Given the description of an element on the screen output the (x, y) to click on. 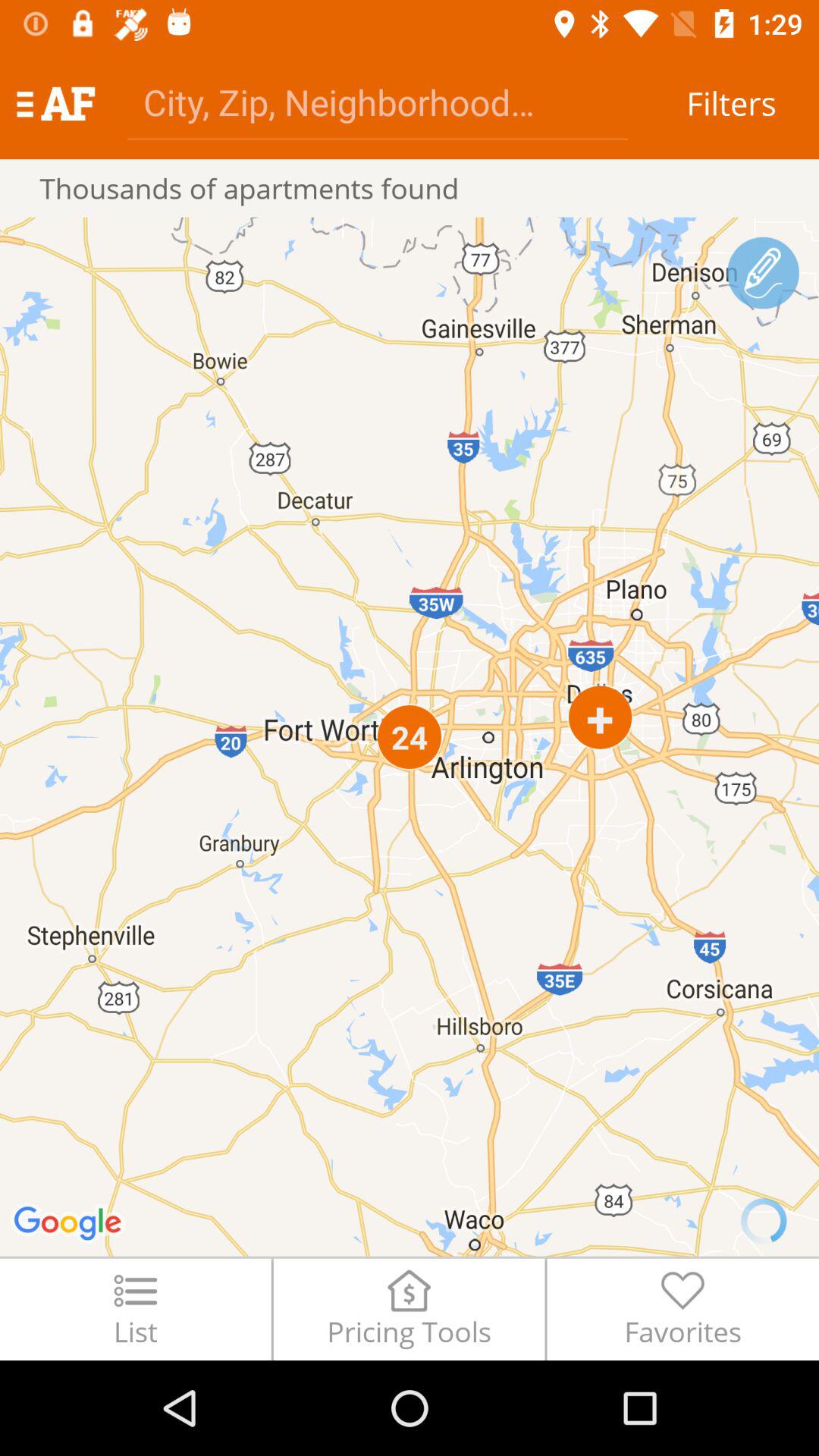
press item next to filters (377, 102)
